Given the description of an element on the screen output the (x, y) to click on. 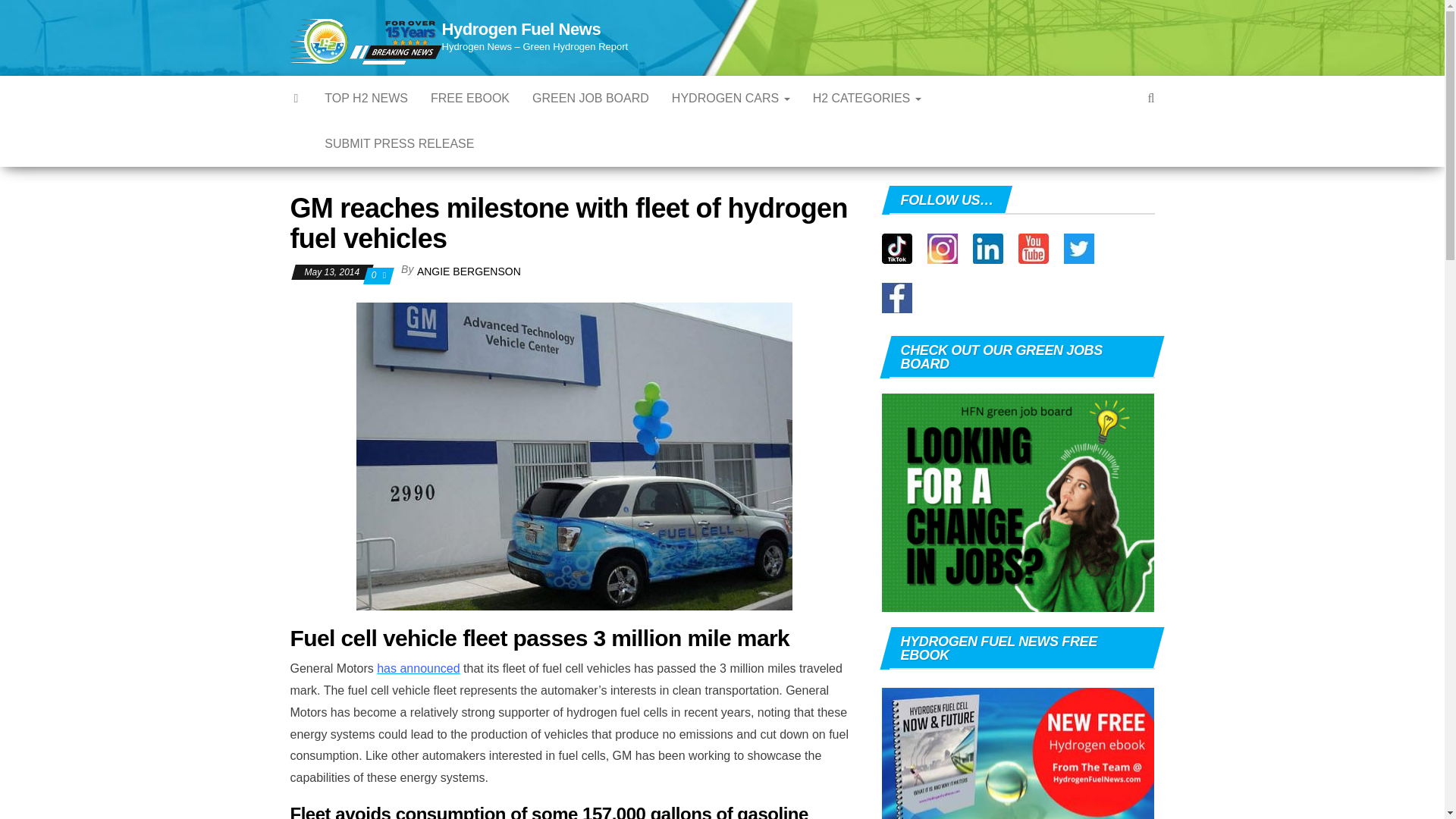
Top H2 News (366, 98)
Hydrogen Fuel News (520, 28)
Hydrogen Cars (731, 98)
FREE EBOOK (470, 98)
TOP H2 NEWS (366, 98)
H2 CATEGORIES (867, 98)
HYDROGEN CARS (731, 98)
Hydrogen Fuel News (296, 98)
Free ebook (470, 98)
Green Job Board (591, 98)
GREEN JOB BOARD (591, 98)
